Given the description of an element on the screen output the (x, y) to click on. 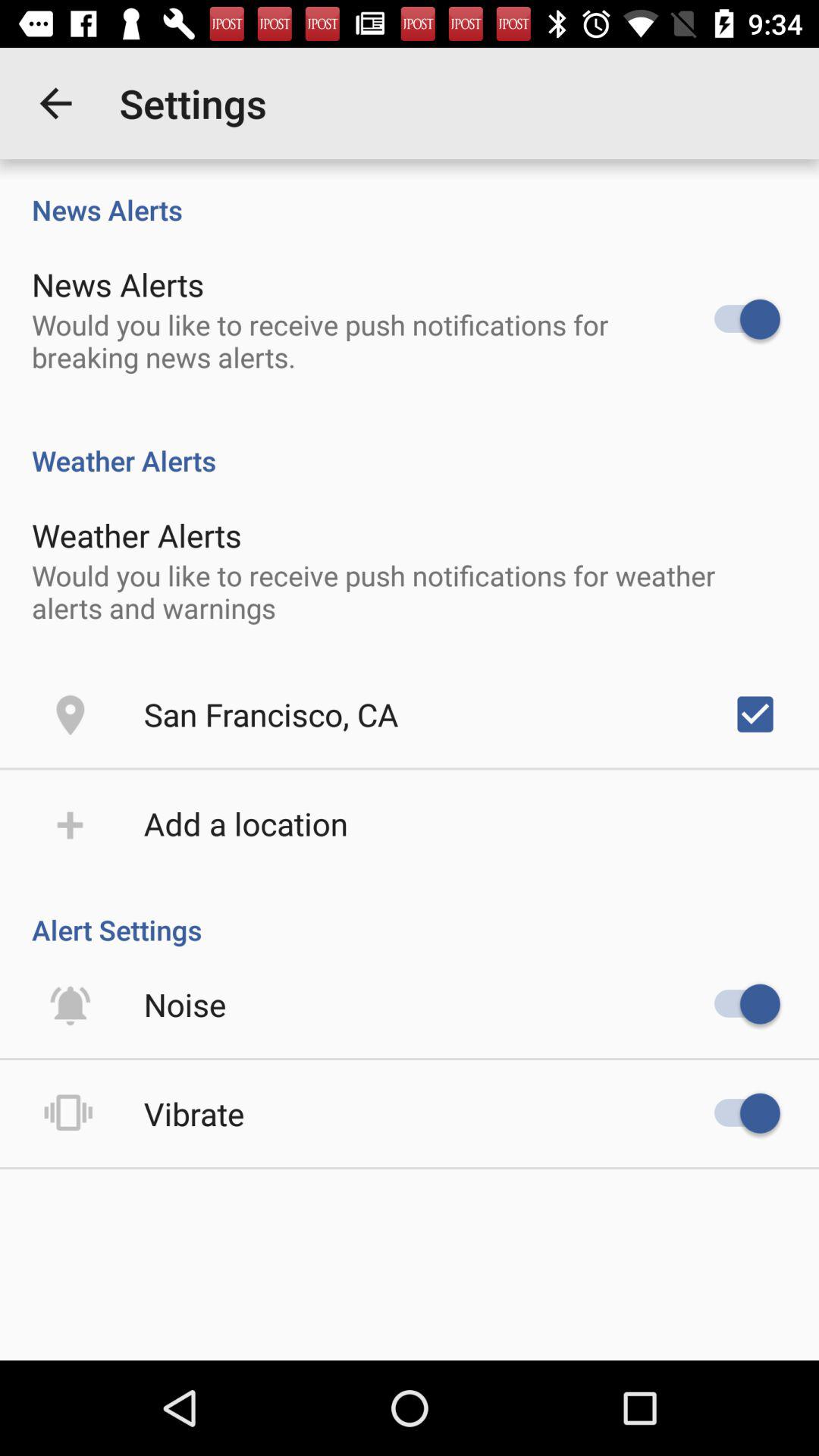
click the icon above the add a location item (270, 713)
